Given the description of an element on the screen output the (x, y) to click on. 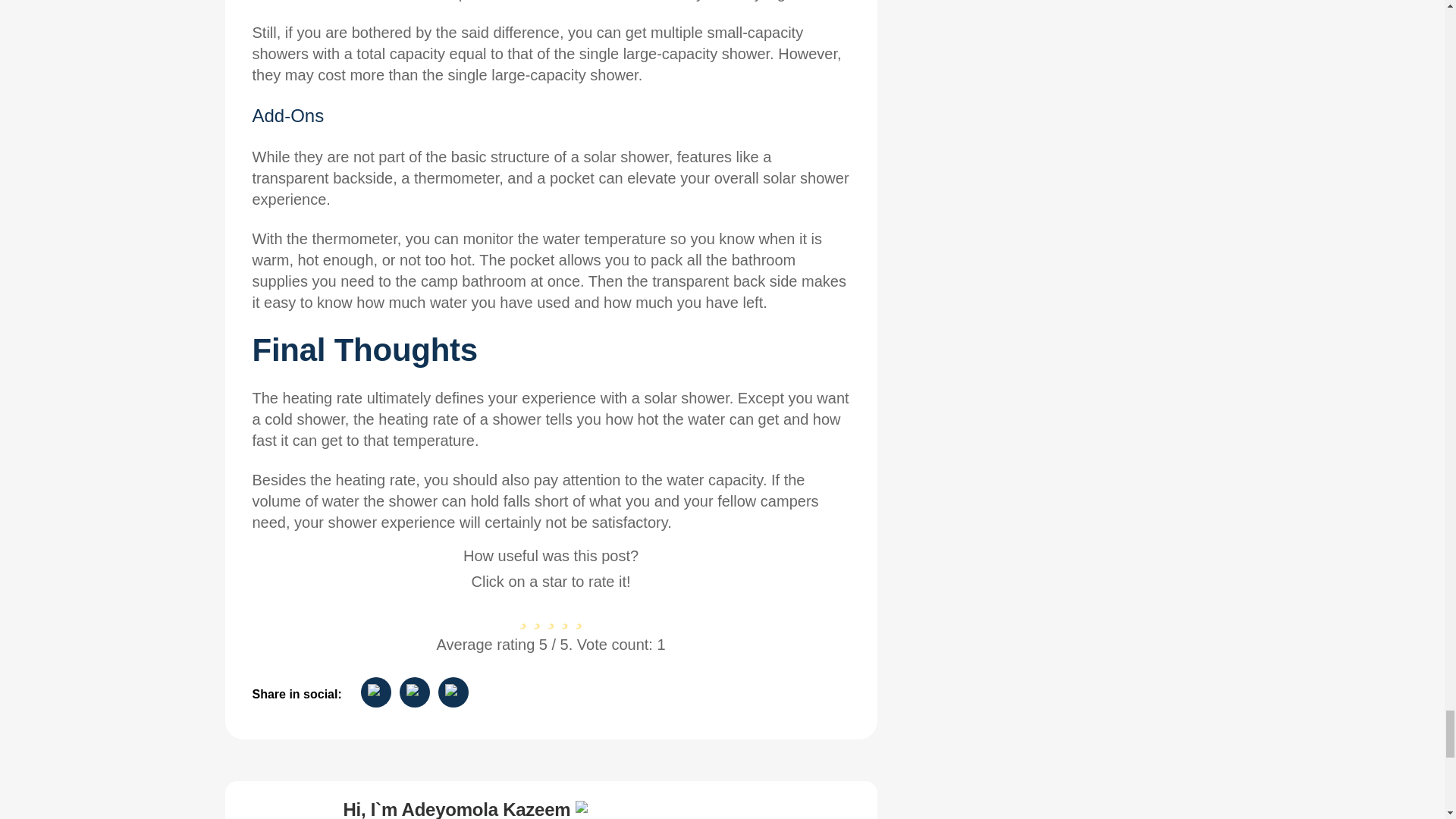
Instagram (376, 692)
Facebook (414, 692)
Twitter (453, 692)
